Given the description of an element on the screen output the (x, y) to click on. 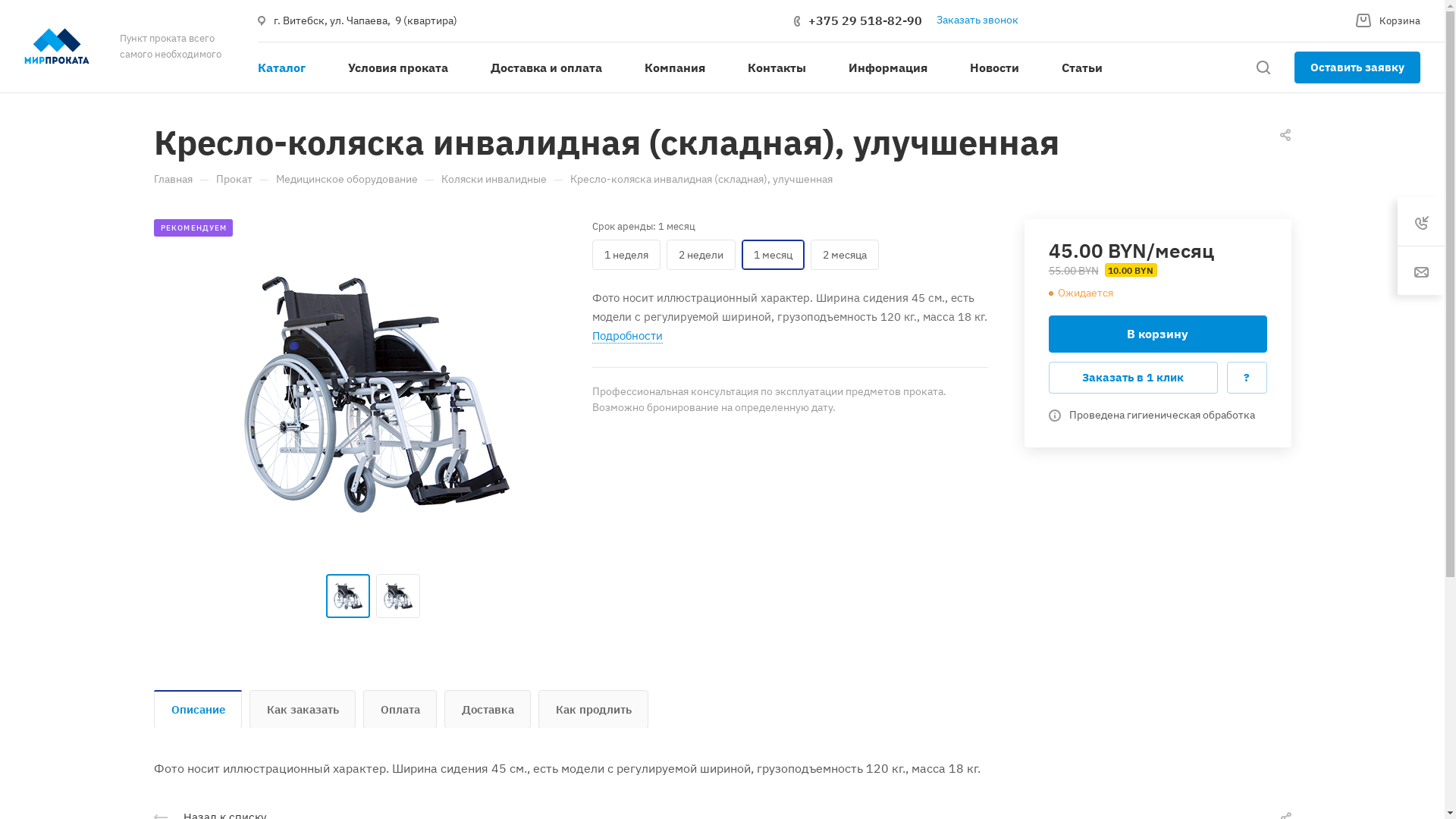
? Element type: text (1246, 377)
+375 29 518-82-90 Element type: text (865, 20)
